Given the description of an element on the screen output the (x, y) to click on. 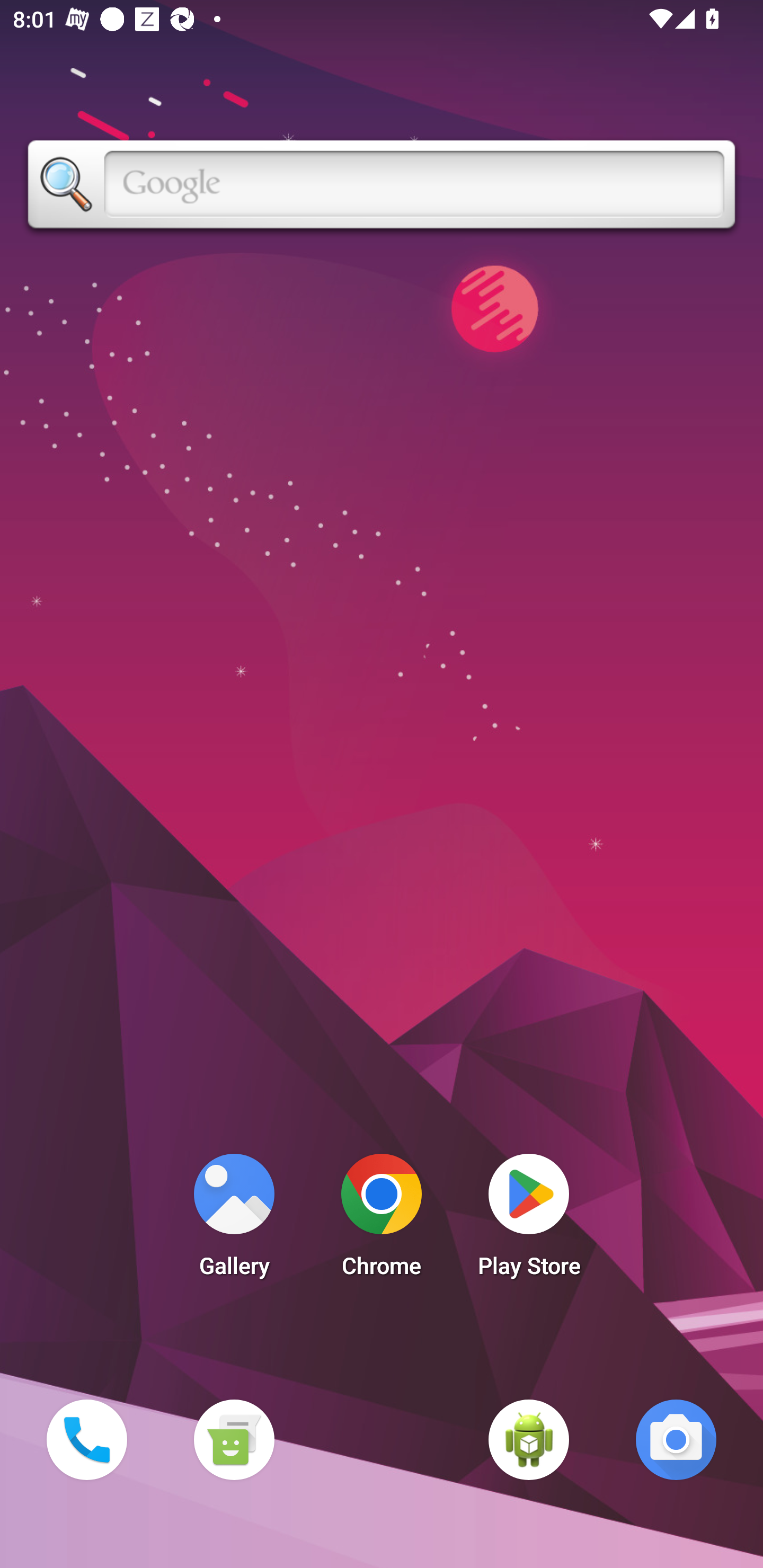
Gallery (233, 1220)
Chrome (381, 1220)
Play Store (528, 1220)
Phone (86, 1439)
Messaging (233, 1439)
WebView Browser Tester (528, 1439)
Camera (676, 1439)
